Given the description of an element on the screen output the (x, y) to click on. 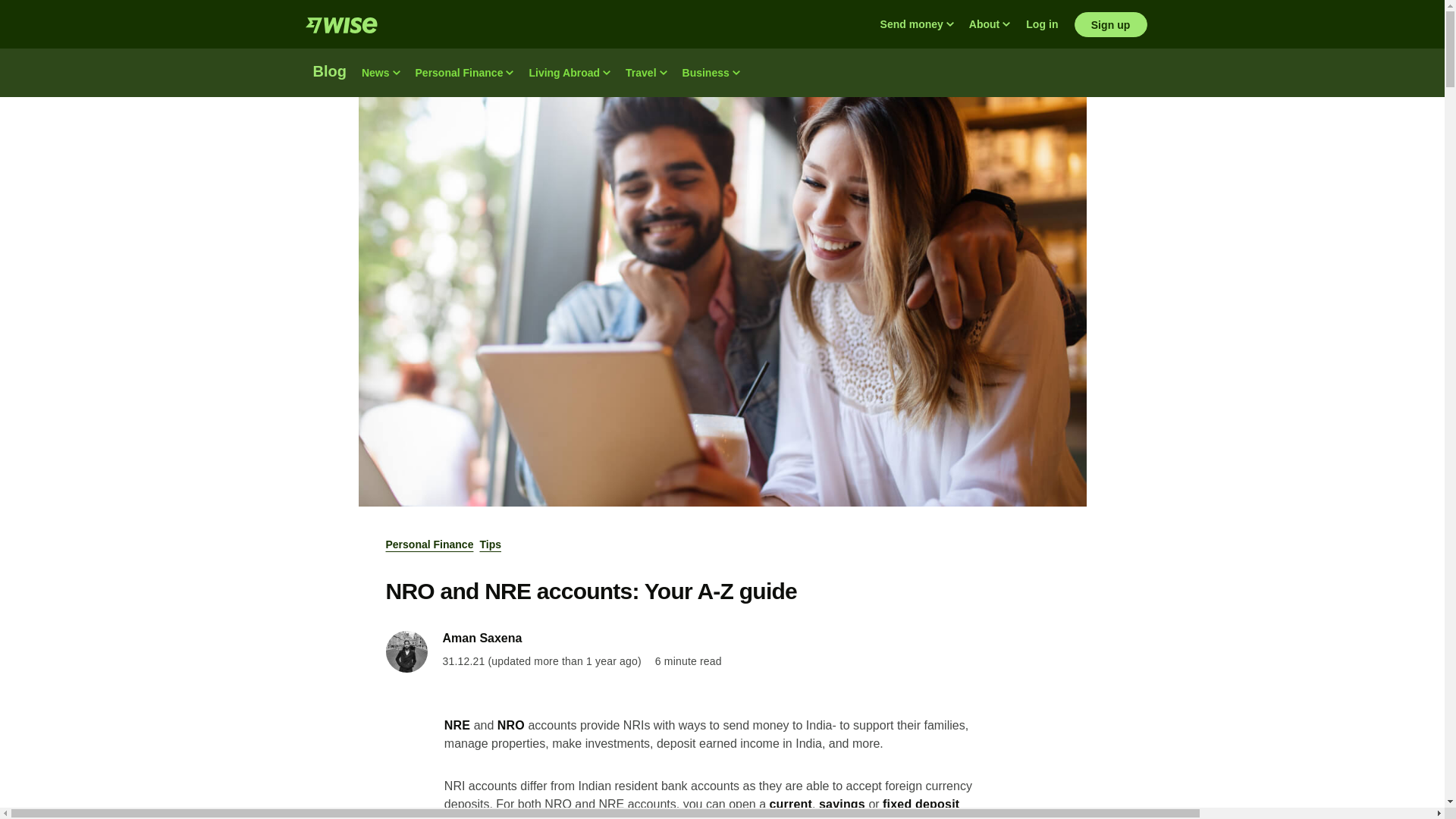
Living Abroad (569, 72)
Business (711, 72)
News (380, 72)
Send money (916, 24)
Log in (1041, 23)
Sign up (1110, 24)
Blog (328, 72)
Travel (645, 72)
About (988, 24)
Personal Finance (464, 72)
